Given the description of an element on the screen output the (x, y) to click on. 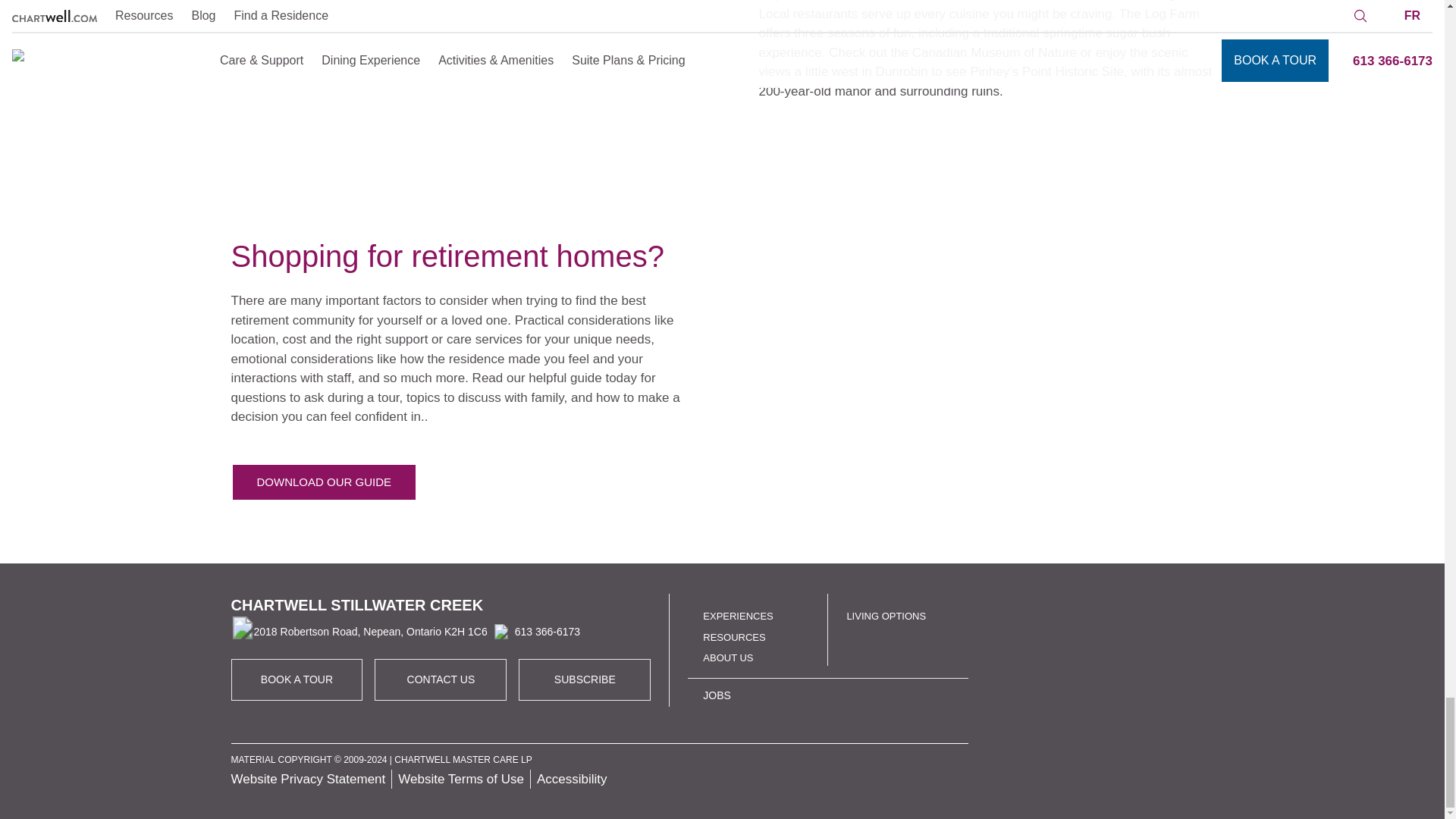
EXPERIENCES (738, 615)
Facebook (1057, 738)
JOBS (716, 695)
ABOUT US (727, 657)
RESOURCES (734, 636)
2018 Robertson Road, Nepean, Ontario K2H 1C6 (358, 631)
LIVING OPTIONS (885, 615)
Instagram (1104, 738)
SUBSCRIBE (584, 679)
Download our guide (323, 482)
CONTACT US (441, 679)
613 366-6173 (533, 631)
BOOK A TOUR (323, 482)
